Given the description of an element on the screen output the (x, y) to click on. 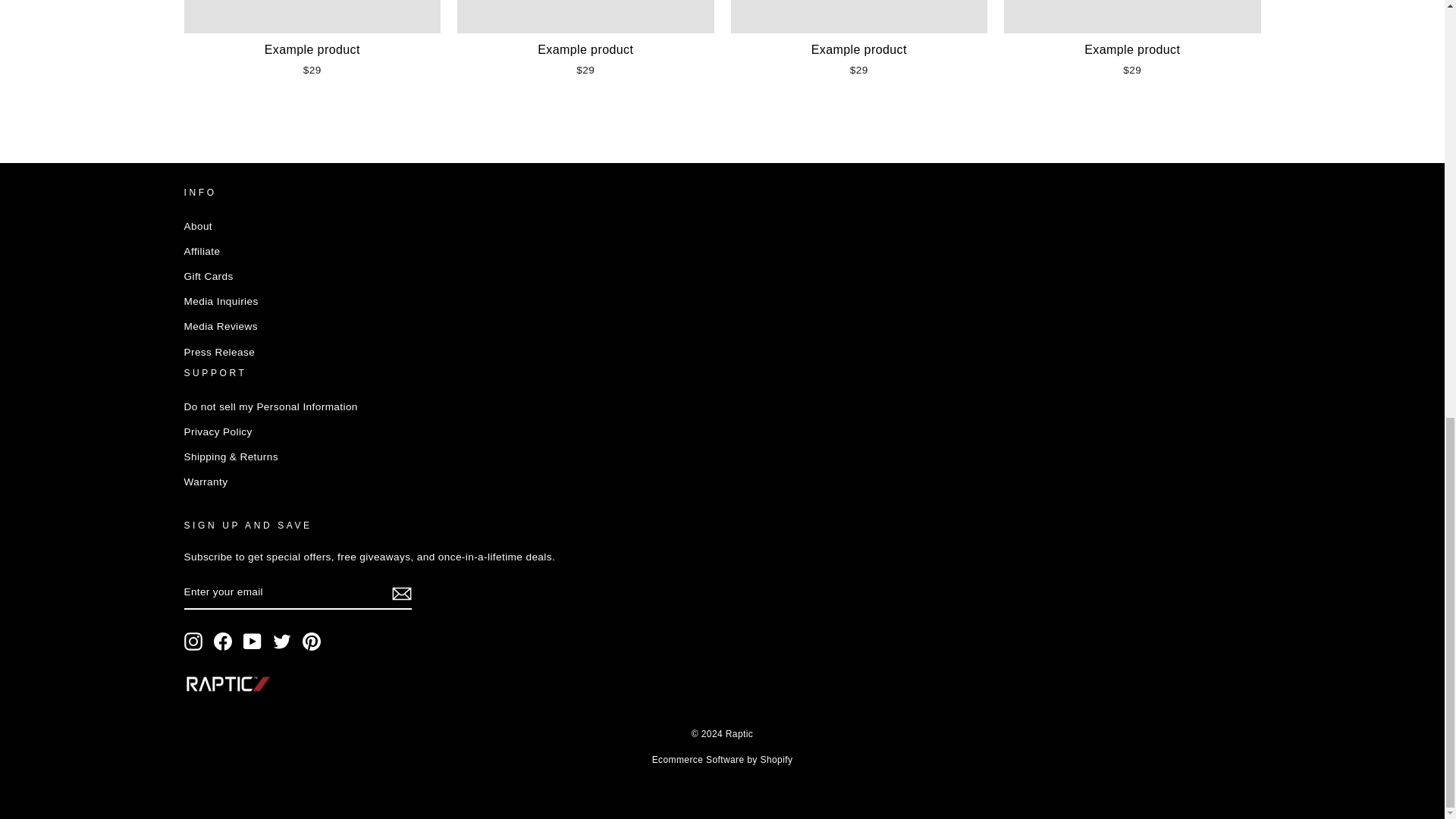
Raptic on Twitter (282, 641)
Raptic on Facebook (222, 641)
Raptic on Instagram (192, 641)
Raptic on YouTube (251, 641)
Raptic on Pinterest (310, 641)
